Given the description of an element on the screen output the (x, y) to click on. 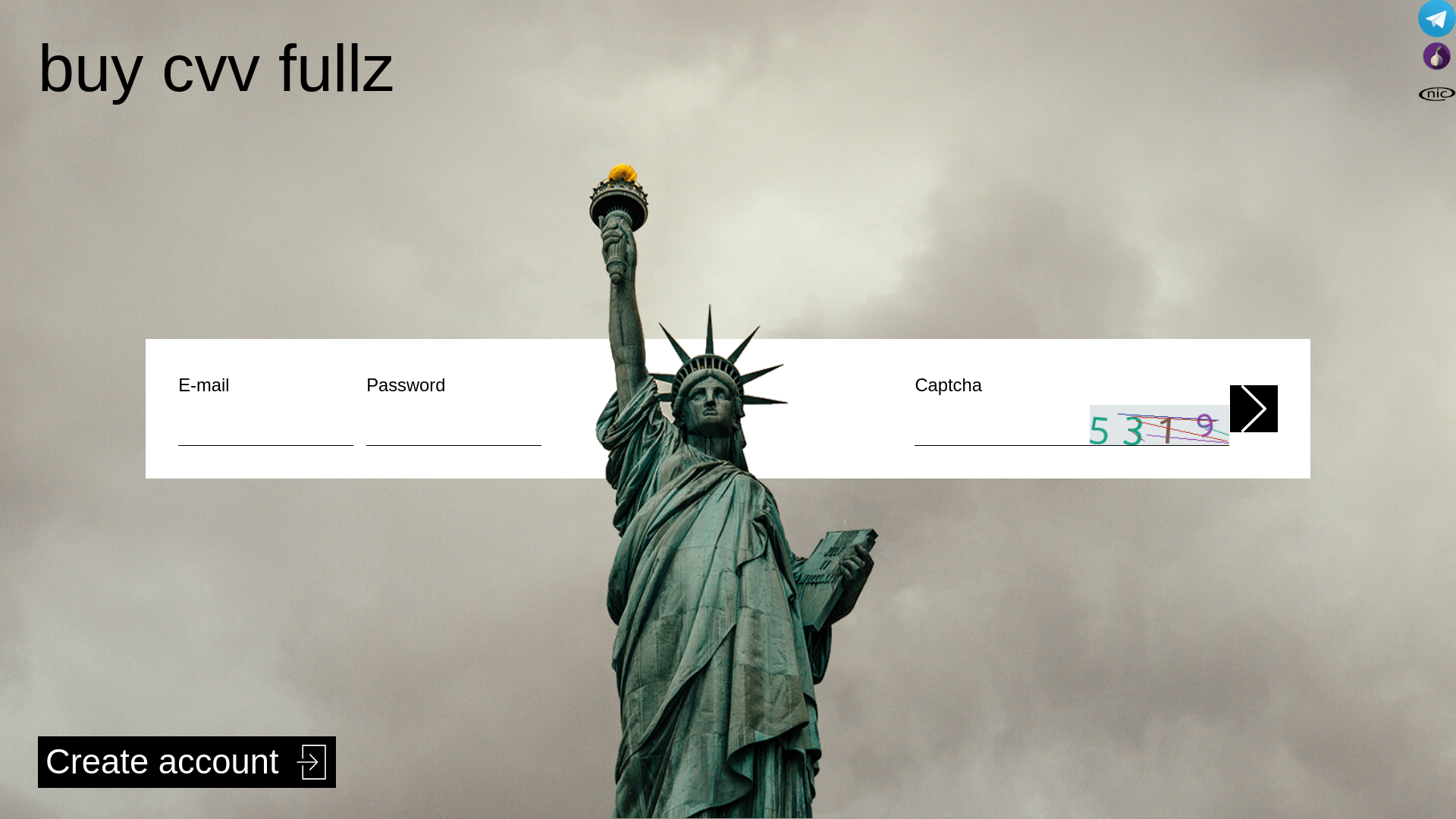
Create account Element type: text (186, 761)
